Given the description of an element on the screen output the (x, y) to click on. 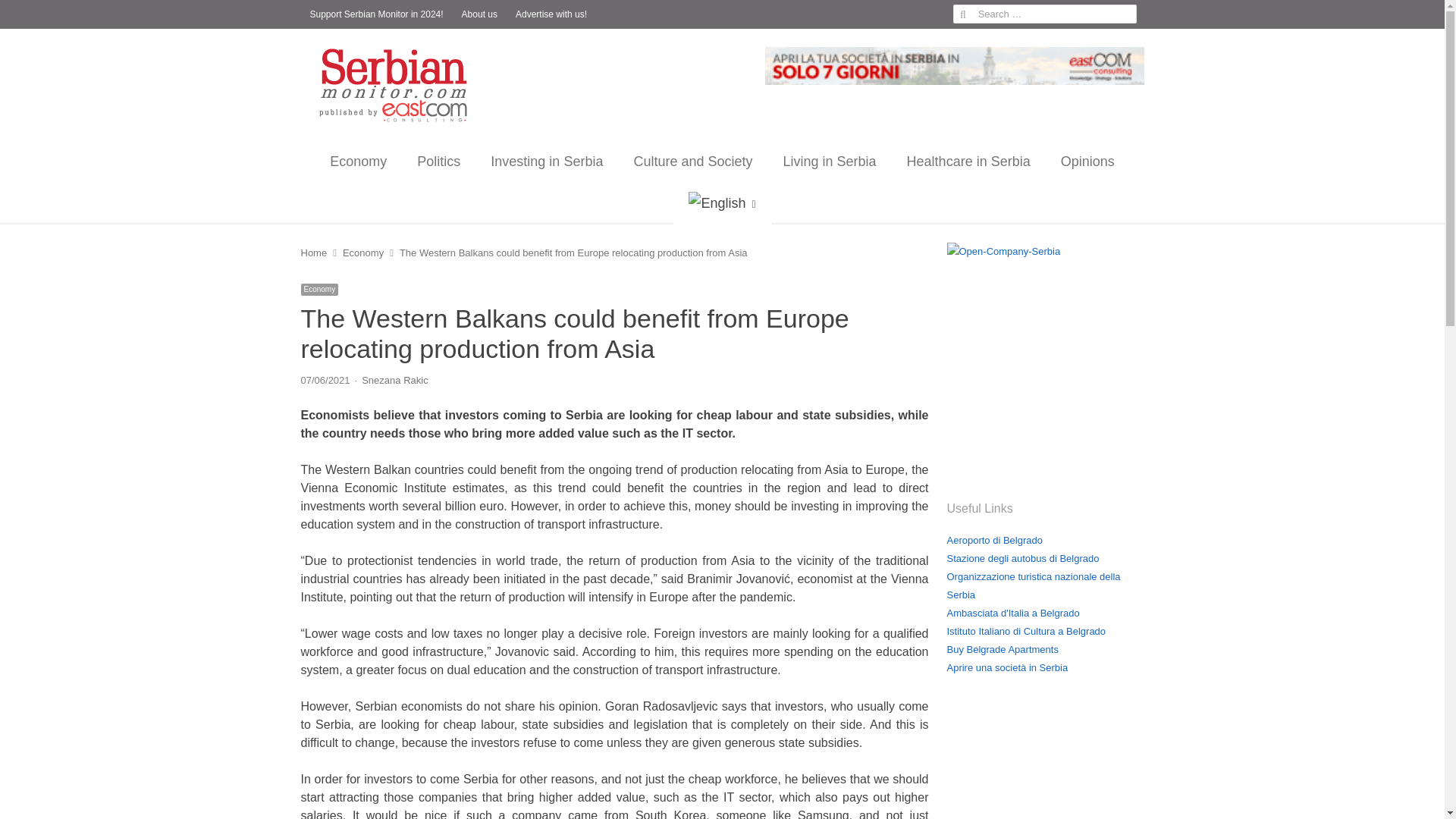
About us (479, 13)
Politics (438, 161)
Culture and Society (692, 161)
Stazione degli autobus di Belgrado (1022, 558)
Search (27, 13)
Economy (363, 252)
Opinions (1087, 161)
Ambasciata d''Italia a Belgrado (1012, 613)
Living in Serbia (829, 161)
Stazione degli autobus di Belgrado (1022, 558)
